Given the description of an element on the screen output the (x, y) to click on. 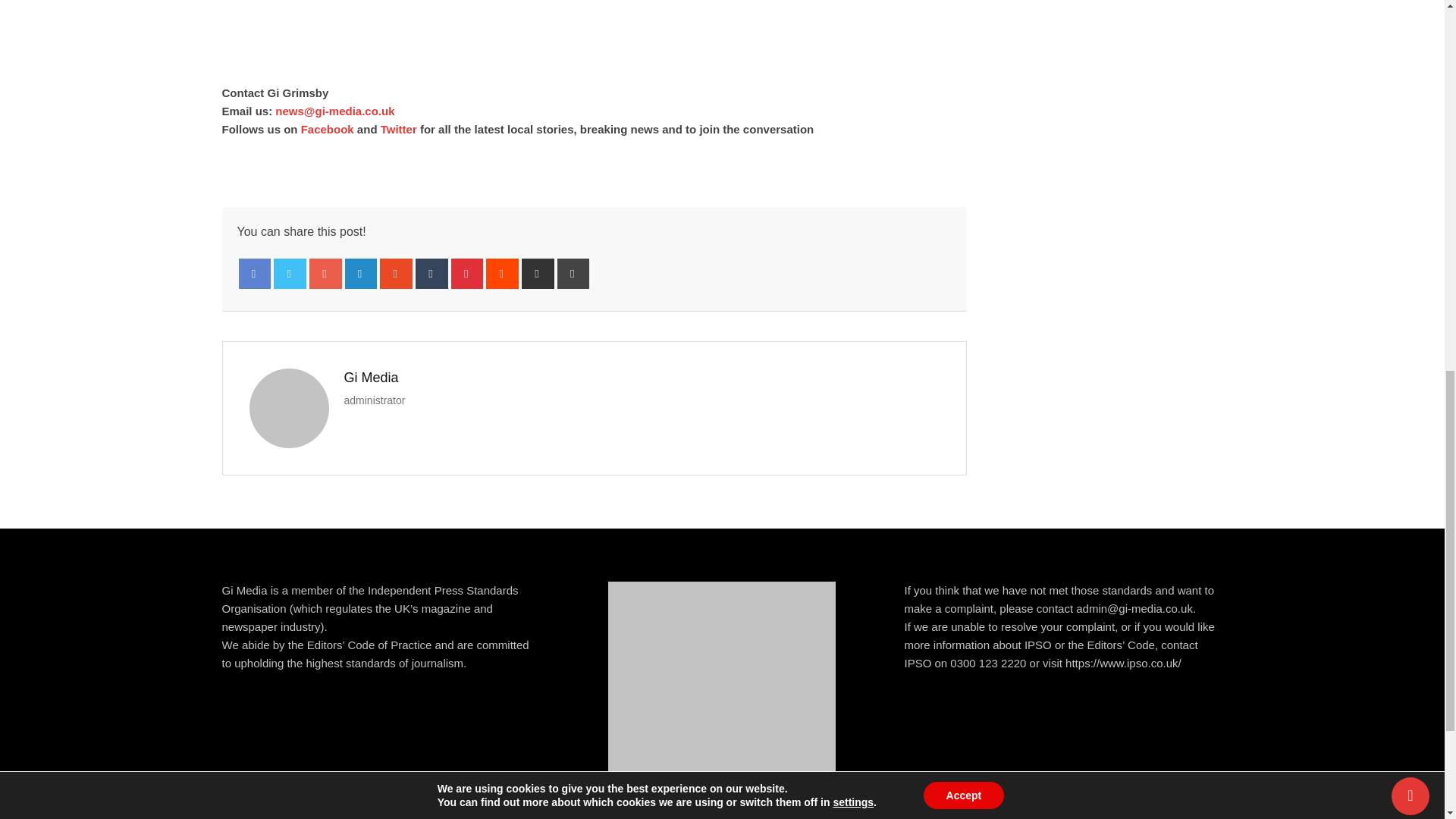
Posts by Gi Media (370, 377)
